Given the description of an element on the screen output the (x, y) to click on. 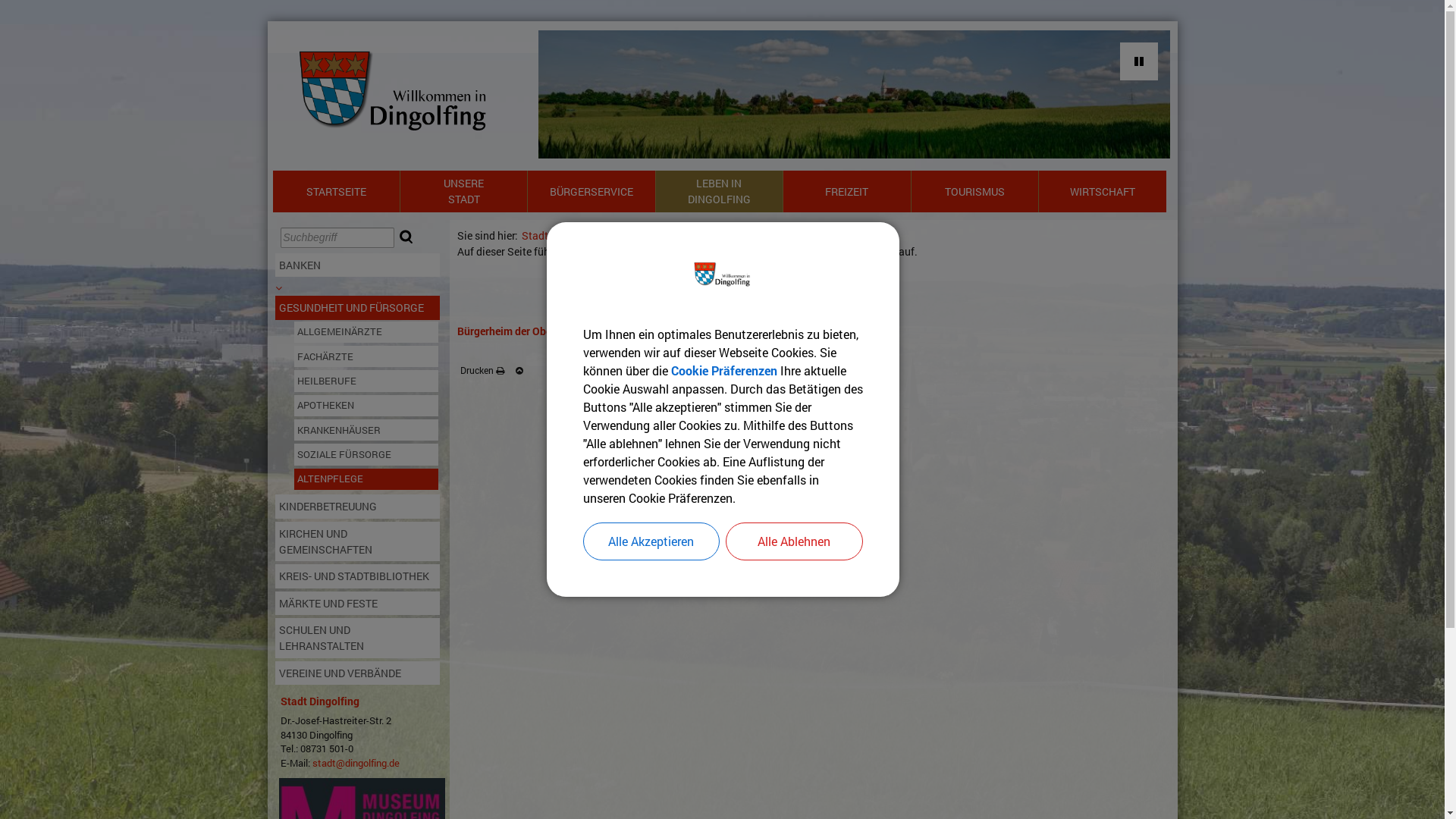
ALTENPFLEGE Element type: text (366, 478)
Alle Ablehnen Element type: text (793, 541)
UNSERE STADT Element type: text (463, 190)
LEBEN IN DINGOLFING Element type: text (718, 190)
Suchbegriff eingeben Element type: hover (337, 237)
KINDERBETREUUNG Element type: text (357, 506)
Drucken Element type: text (482, 370)
Bildrotation pausieren Element type: hover (1138, 61)
BANKEN Element type: text (357, 265)
TOURISMUS Element type: text (974, 190)
Altenpflege Element type: text (869, 235)
stadt@dingolfing.de Element type: text (355, 762)
Alle Akzeptieren Element type: text (650, 541)
zur Startseite Element type: text (183, 7)
STARTSEITE Element type: text (336, 190)
FREIZEIT Element type: text (846, 190)
KREIS- UND STADTBIBLIOTHEK Element type: text (357, 576)
WIRTSCHAFT Element type: text (1102, 190)
Stadt Dingolfing Element type: text (319, 700)
APOTHEKEN Element type: text (366, 405)
SCHULEN UND LEHRANSTALTEN Element type: text (357, 638)
Leben in Dingolfing Element type: text (656, 235)
KIRCHEN UND GEMEINSCHAFTEN Element type: text (357, 541)
HEILBERUFE Element type: text (366, 380)
Suche starten Element type: hover (405, 236)
Stadt Dingolfing Element type: text (560, 235)
zur Navigation Element type: text (90, 7)
